Given the description of an element on the screen output the (x, y) to click on. 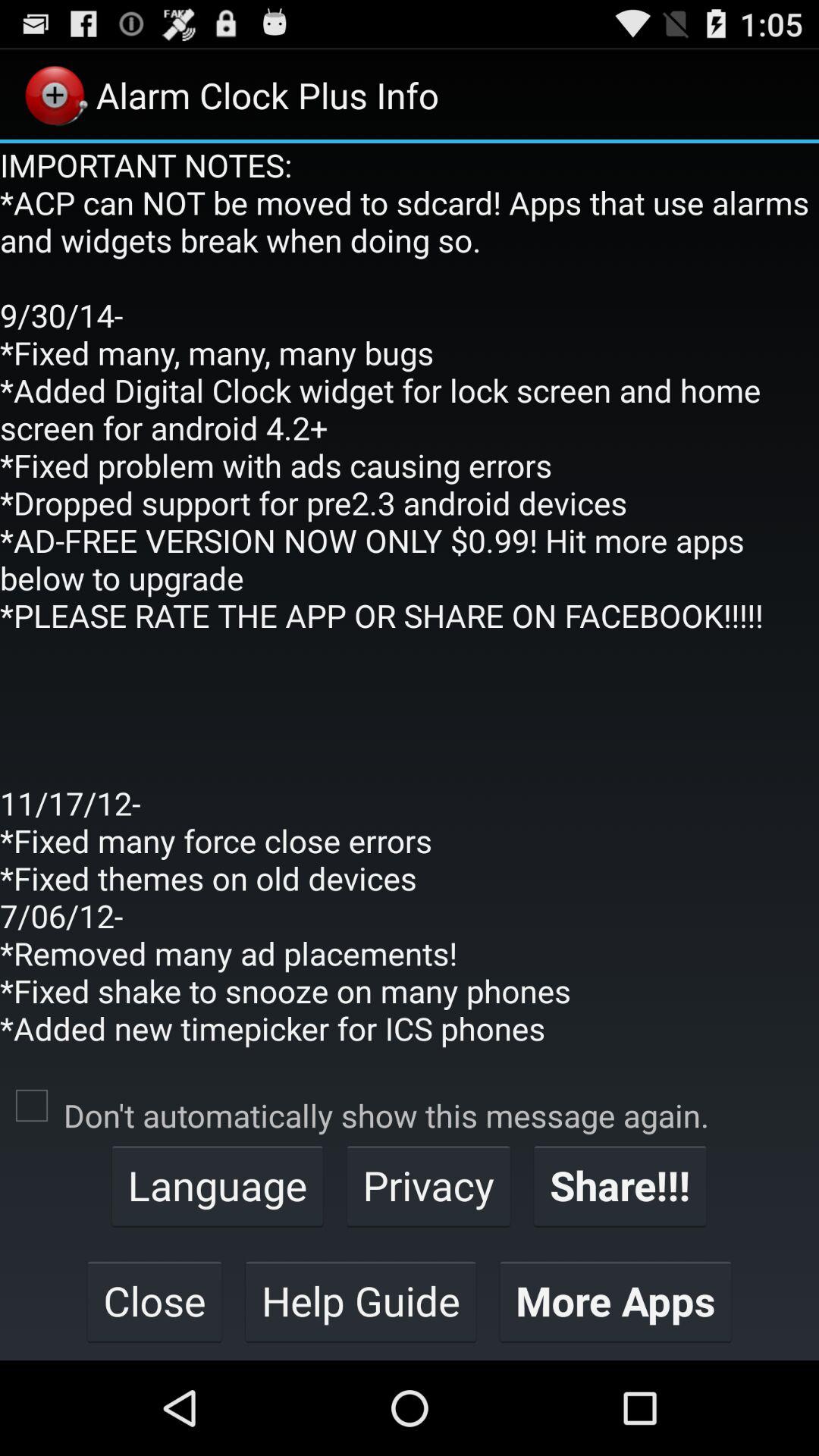
turn on the app below don t automatically (428, 1185)
